Given the description of an element on the screen output the (x, y) to click on. 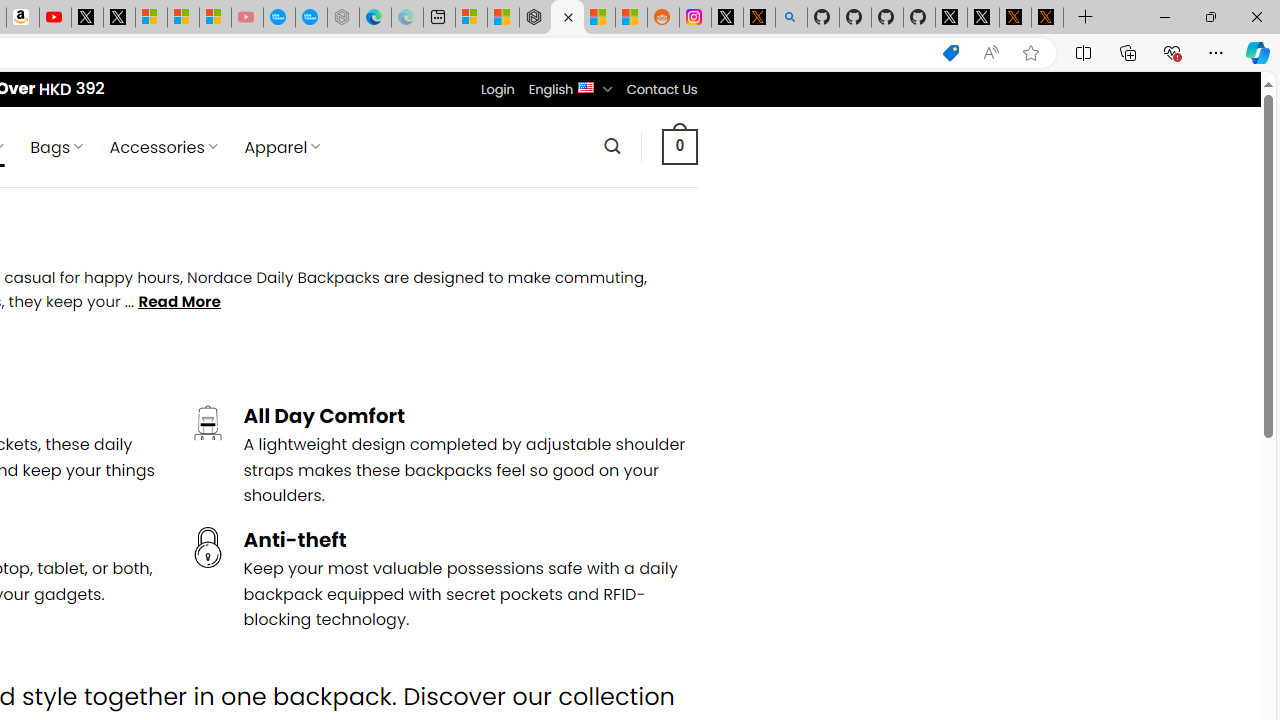
This site has coupons! Shopping in Microsoft Edge (950, 53)
Login (497, 89)
Nordace - Daily Backpacks (566, 17)
 0  (679, 146)
Day 1: Arriving in Yemen (surreal to be here) - YouTube (54, 17)
Profile / X (950, 17)
Nordace - Best Sellers (535, 17)
Gloom - YouTube - Sleeping (246, 17)
The most popular Google 'how to' searches (310, 17)
Opinion: Op-Ed and Commentary - USA TODAY (279, 17)
